Given the description of an element on the screen output the (x, y) to click on. 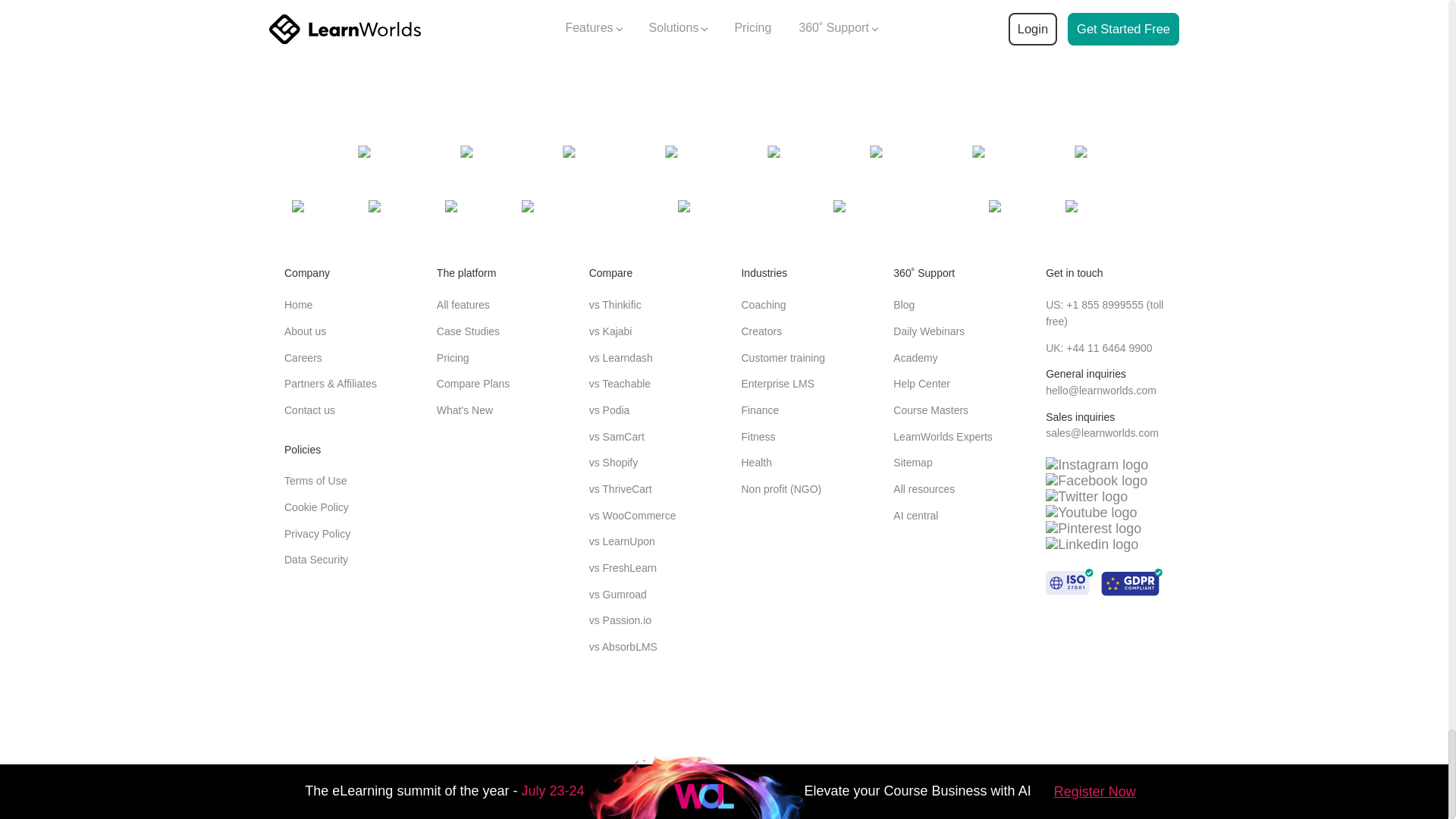
send email to LearnWorlds (1101, 432)
send email to LearnWorlds (1100, 390)
